Given the description of an element on the screen output the (x, y) to click on. 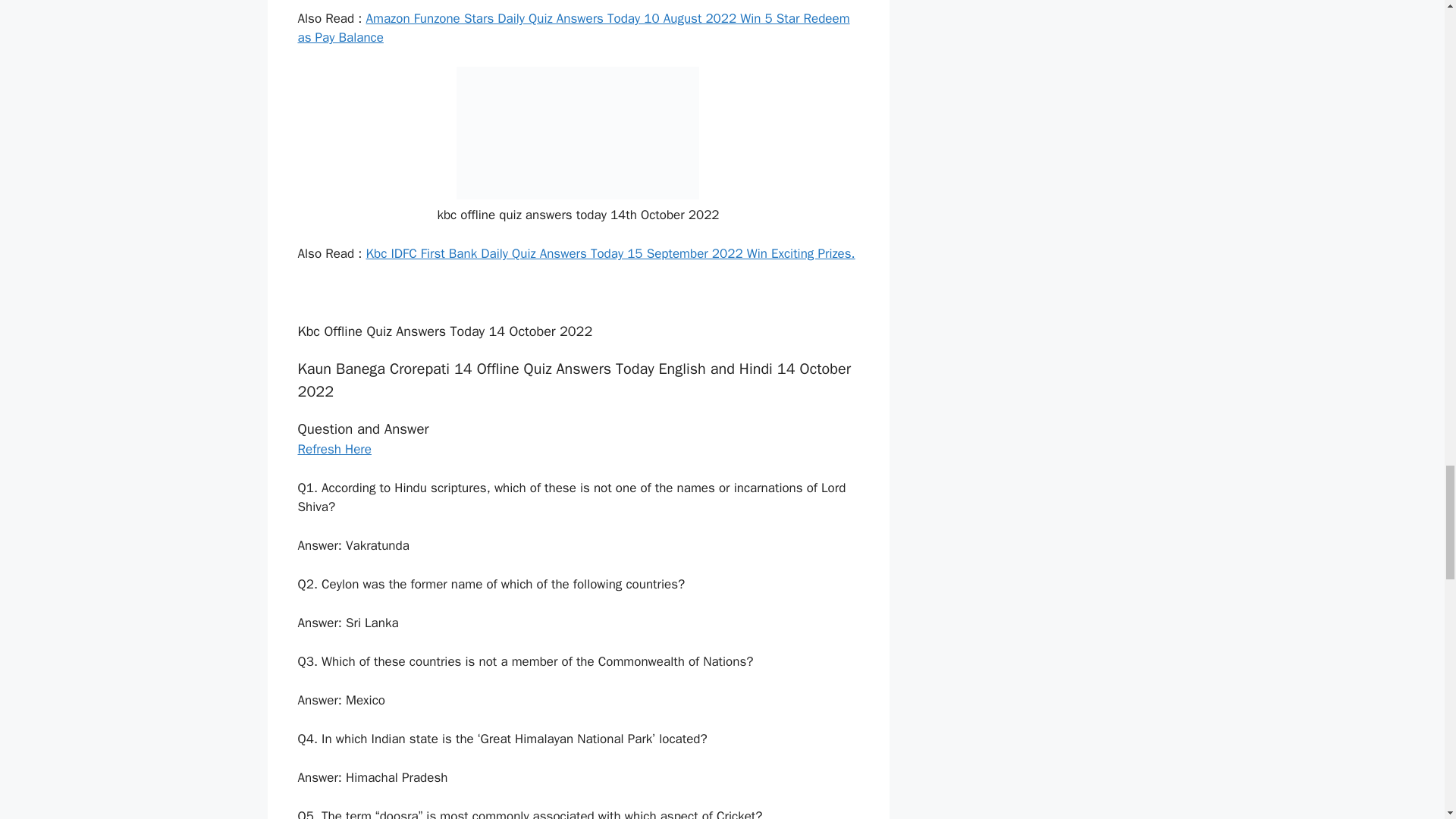
KBC Offline Quiz 14th October 2022 Answers Today Hindi (577, 132)
